Given the description of an element on the screen output the (x, y) to click on. 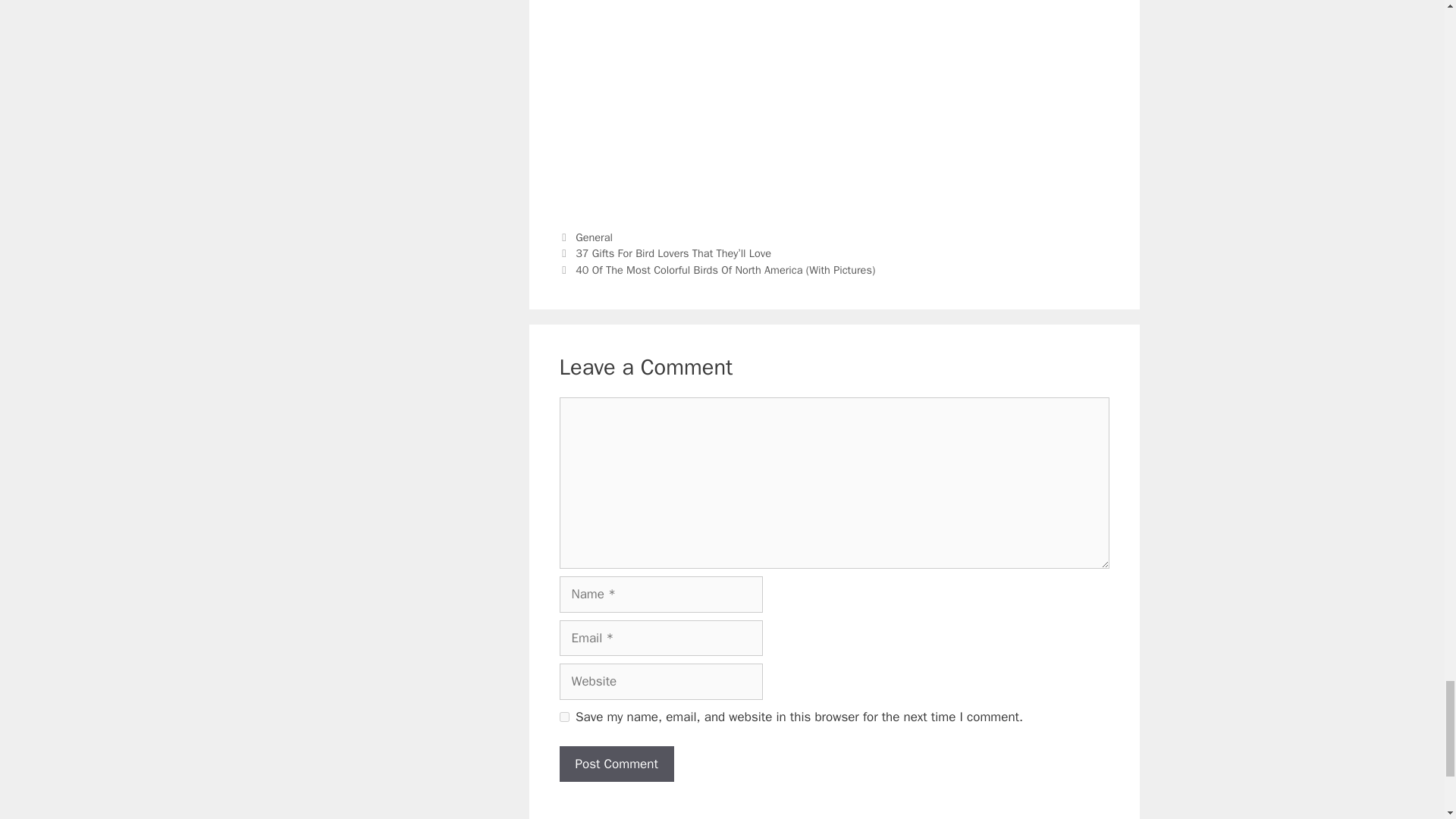
Post Comment (616, 764)
Post Comment (616, 764)
General (593, 237)
yes (564, 716)
